Given the description of an element on the screen output the (x, y) to click on. 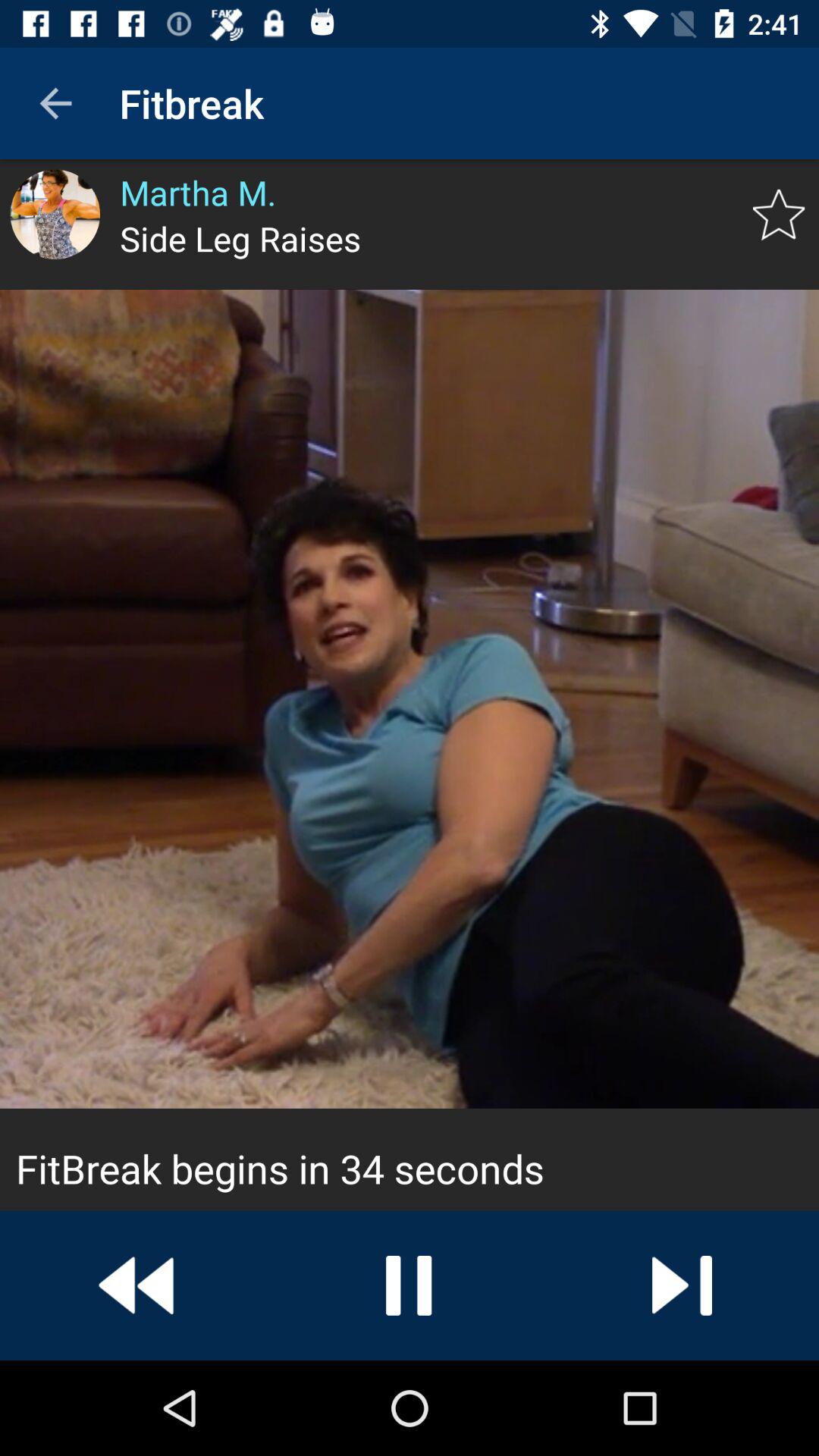
next video (682, 1285)
